Given the description of an element on the screen output the (x, y) to click on. 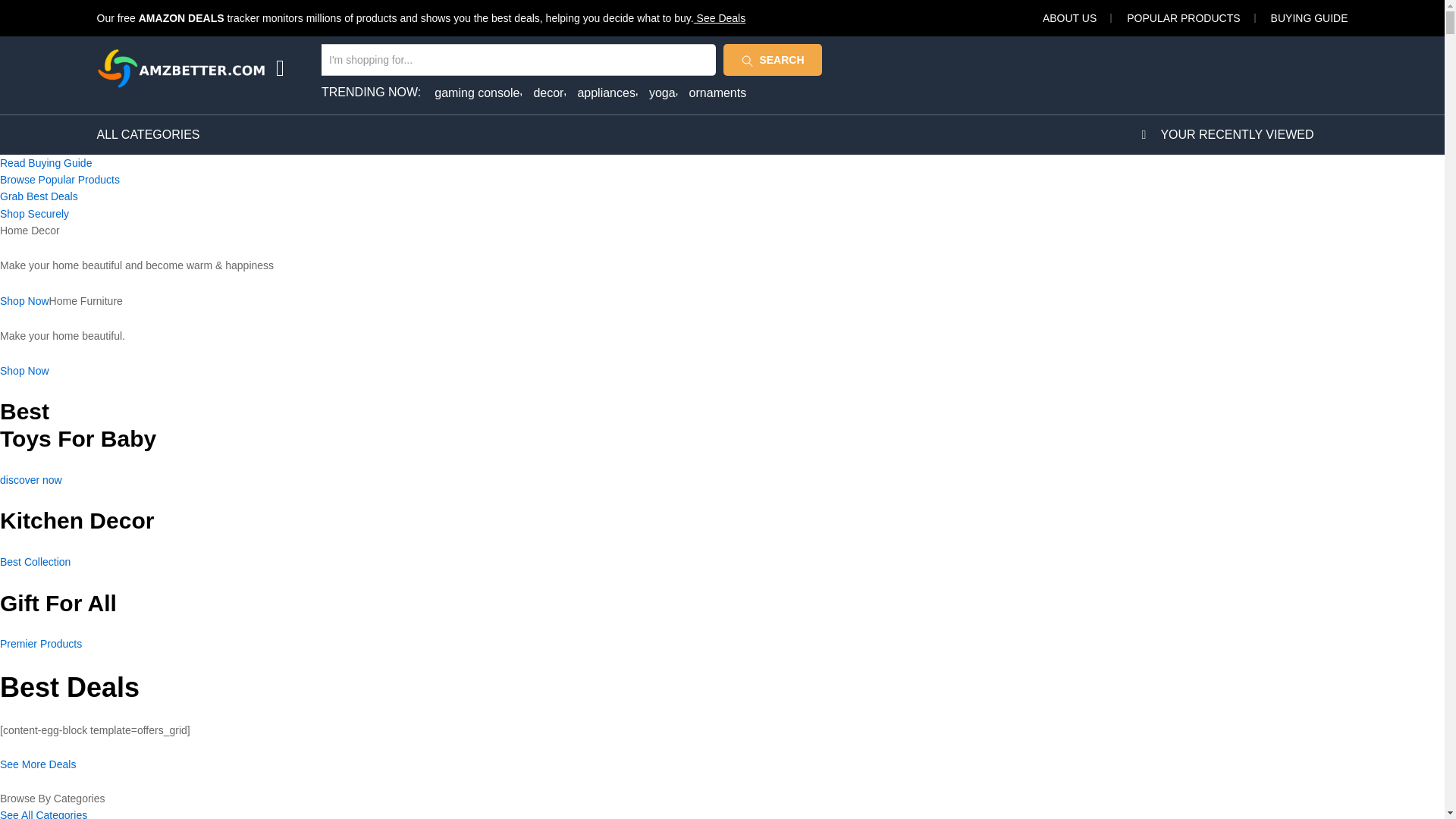
yoga (663, 92)
gaming console (477, 92)
Shop Securely (34, 214)
Shop Now (24, 300)
discover now (31, 480)
Read Buying Guide (45, 162)
Browse Popular Products (59, 179)
See Deals (719, 18)
SEARCH (772, 60)
Premier Products (40, 644)
BUYING GUIDE (1309, 18)
See More Deals (37, 772)
appliances (607, 92)
ALL CATEGORIES (148, 134)
ornaments (717, 92)
